Given the description of an element on the screen output the (x, y) to click on. 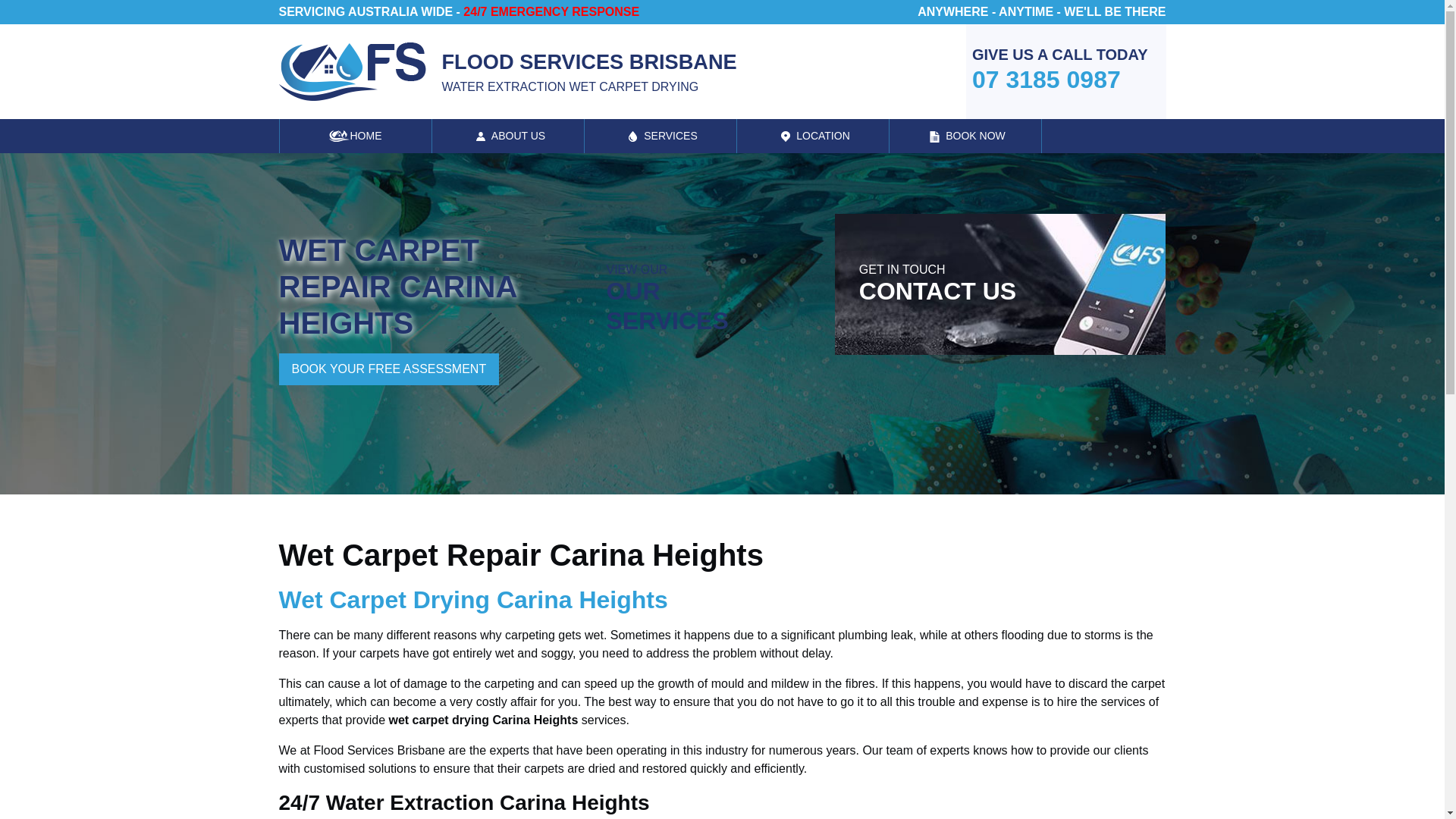
HOME (354, 135)
BOOK NOW (964, 135)
BOOK YOUR FREE ASSESSMENT (389, 368)
ABOUT US (507, 135)
SERVICES (695, 298)
LOCATION (1060, 71)
